Given the description of an element on the screen output the (x, y) to click on. 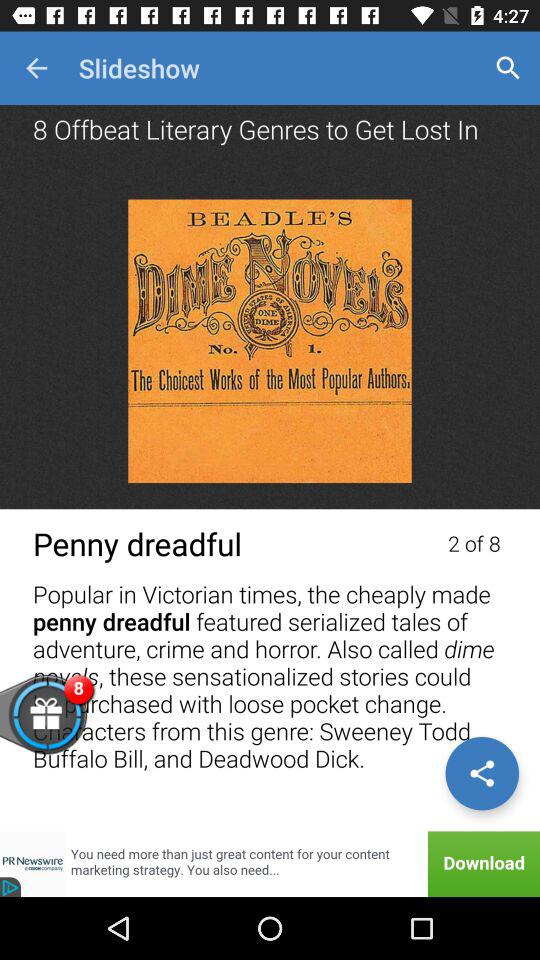
share content (482, 773)
